Given the description of an element on the screen output the (x, y) to click on. 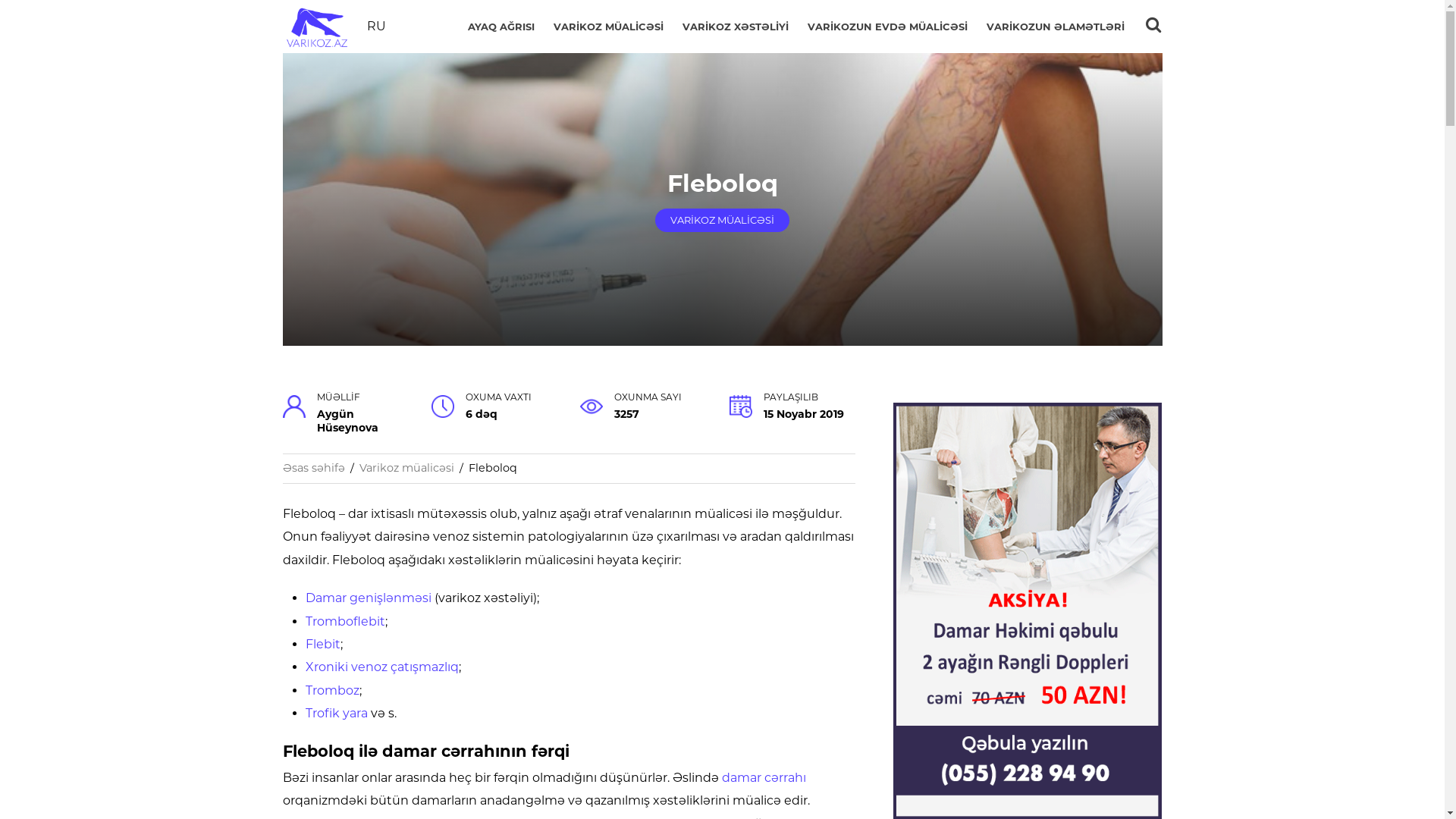
RU Element type: text (376, 25)
Tromboz Element type: text (331, 690)
Trofik yara Element type: text (335, 713)
Flebit Element type: text (321, 644)
Tromboflebit Element type: text (344, 621)
